Given the description of an element on the screen output the (x, y) to click on. 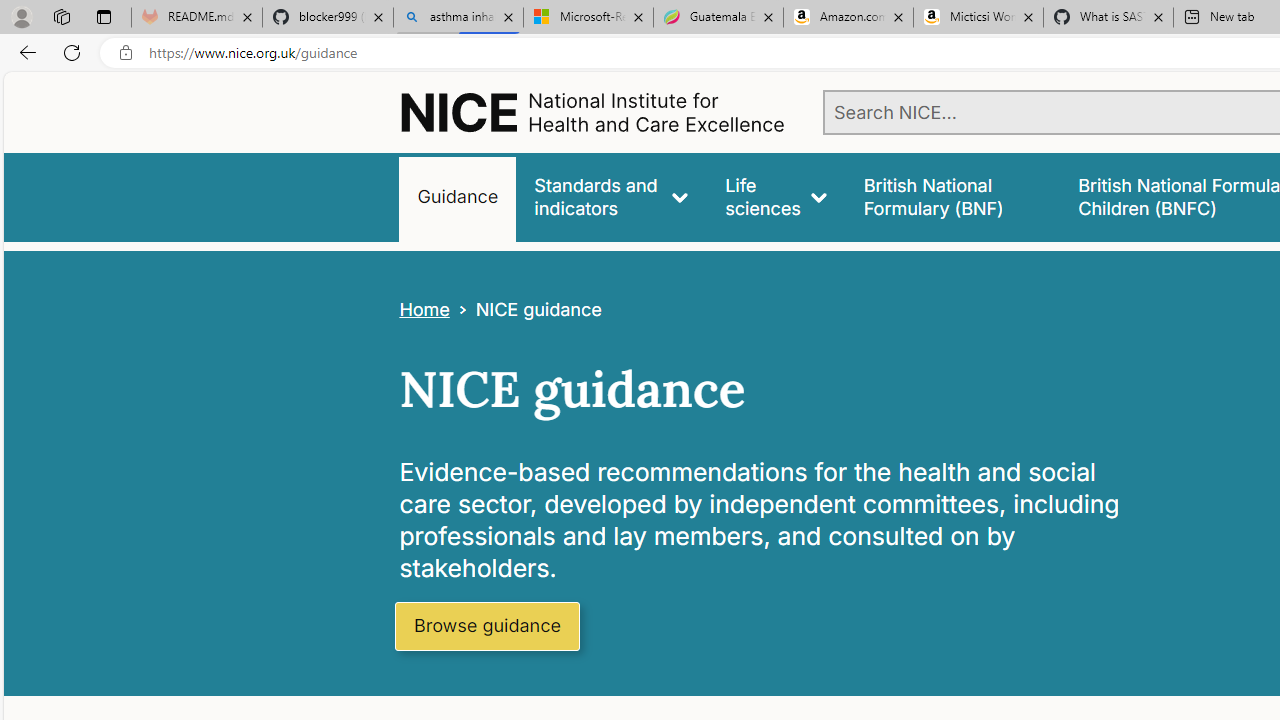
Guidance (458, 196)
Life sciences (776, 196)
Guidance (458, 196)
Life sciences (776, 196)
